Given the description of an element on the screen output the (x, y) to click on. 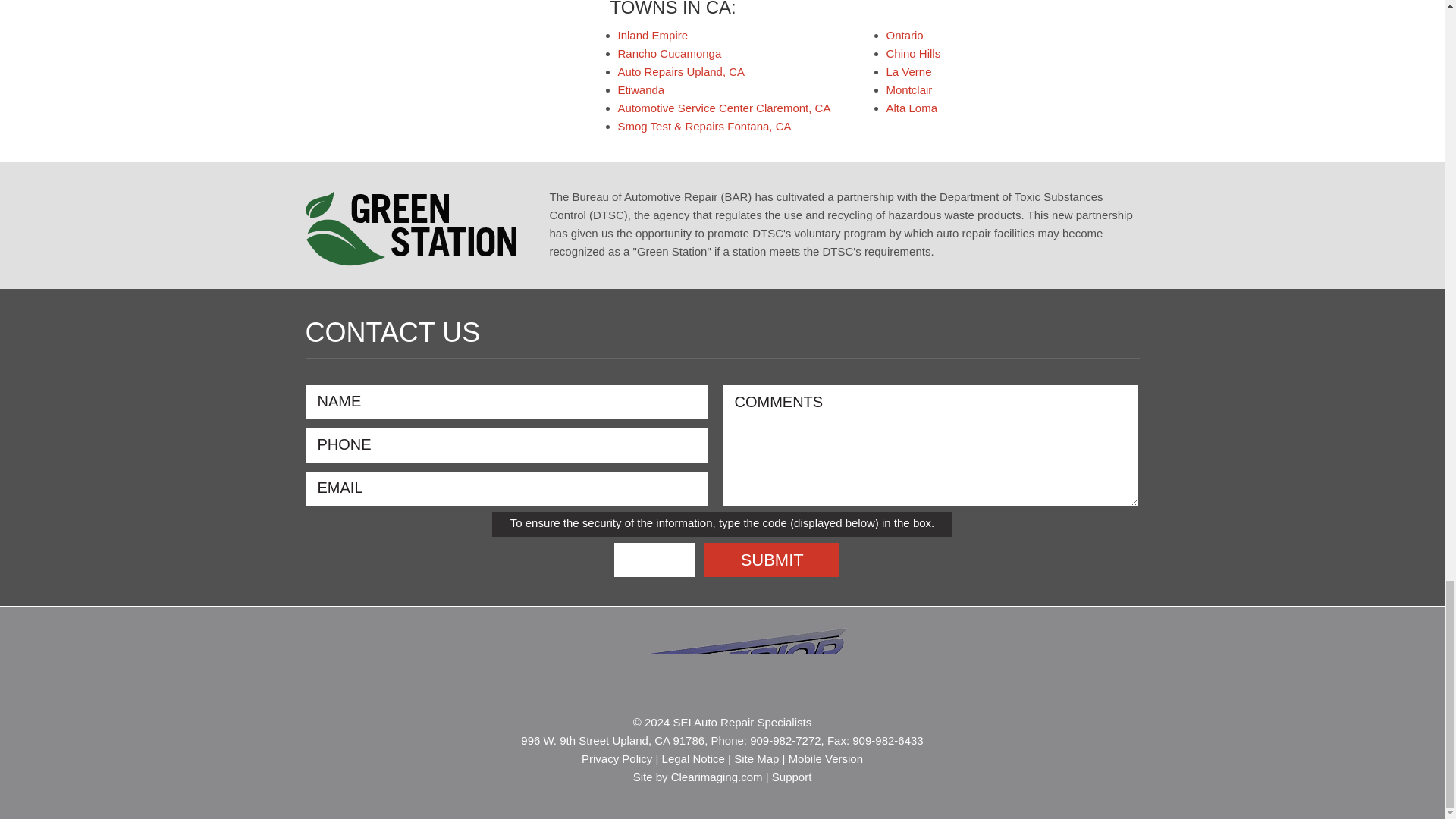
Rancho Cucamonga (668, 52)
Clearimaging.com (716, 776)
Montclair (908, 89)
Legal Notice (693, 758)
 Submit  (772, 559)
Support (791, 776)
Alta Loma (911, 107)
Inland Empire (652, 34)
Ontario (904, 34)
Site Map (755, 758)
